Given the description of an element on the screen output the (x, y) to click on. 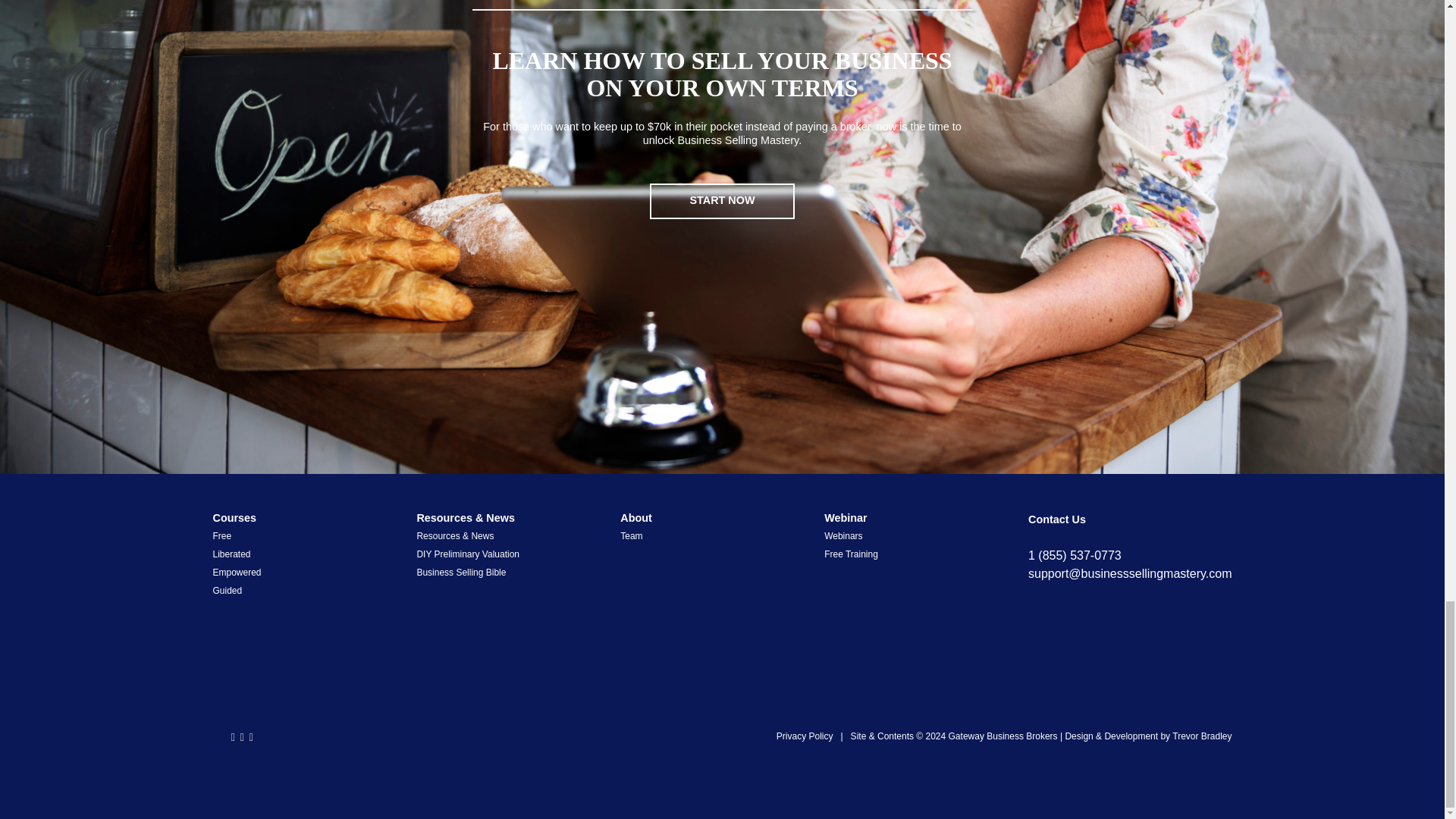
DIY Preliminary Valuation (467, 553)
Liberated (231, 553)
Free (221, 535)
Webinars (842, 535)
Free Training (850, 553)
START NOW (721, 201)
Team (631, 535)
Empowered (236, 572)
Guided (226, 590)
Business Selling Bible (460, 572)
Contact Us (1056, 519)
